Given the description of an element on the screen output the (x, y) to click on. 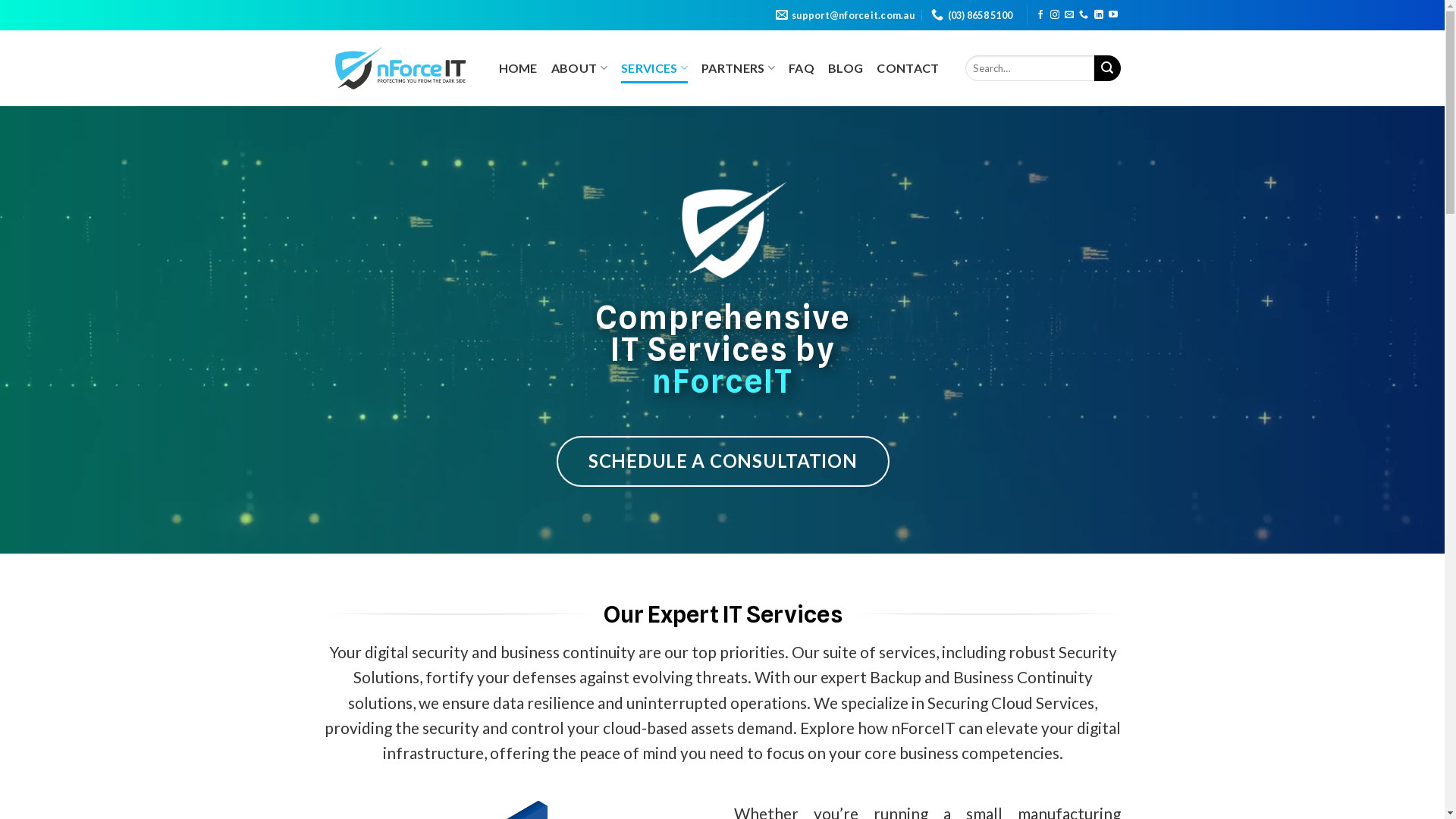
PARTNERS Element type: text (738, 67)
HOME Element type: text (517, 67)
ABOUT Element type: text (579, 67)
support@nforceit.com.au Element type: text (844, 14)
CONTACT Element type: text (907, 67)
Send us an email Element type: hover (1068, 14)
Follow on YouTube Element type: hover (1112, 14)
SCHEDULE A CONSULTATION Element type: text (721, 461)
Follow on Instagram Element type: hover (1054, 14)
SERVICES Element type: text (654, 67)
BLOG Element type: text (845, 67)
(03) 8658 5100 Element type: text (971, 14)
Call us Element type: hover (1083, 14)
FAQ Element type: text (801, 67)
Follow on Facebook Element type: hover (1039, 14)
Follow on LinkedIn Element type: hover (1098, 14)
